Given the description of an element on the screen output the (x, y) to click on. 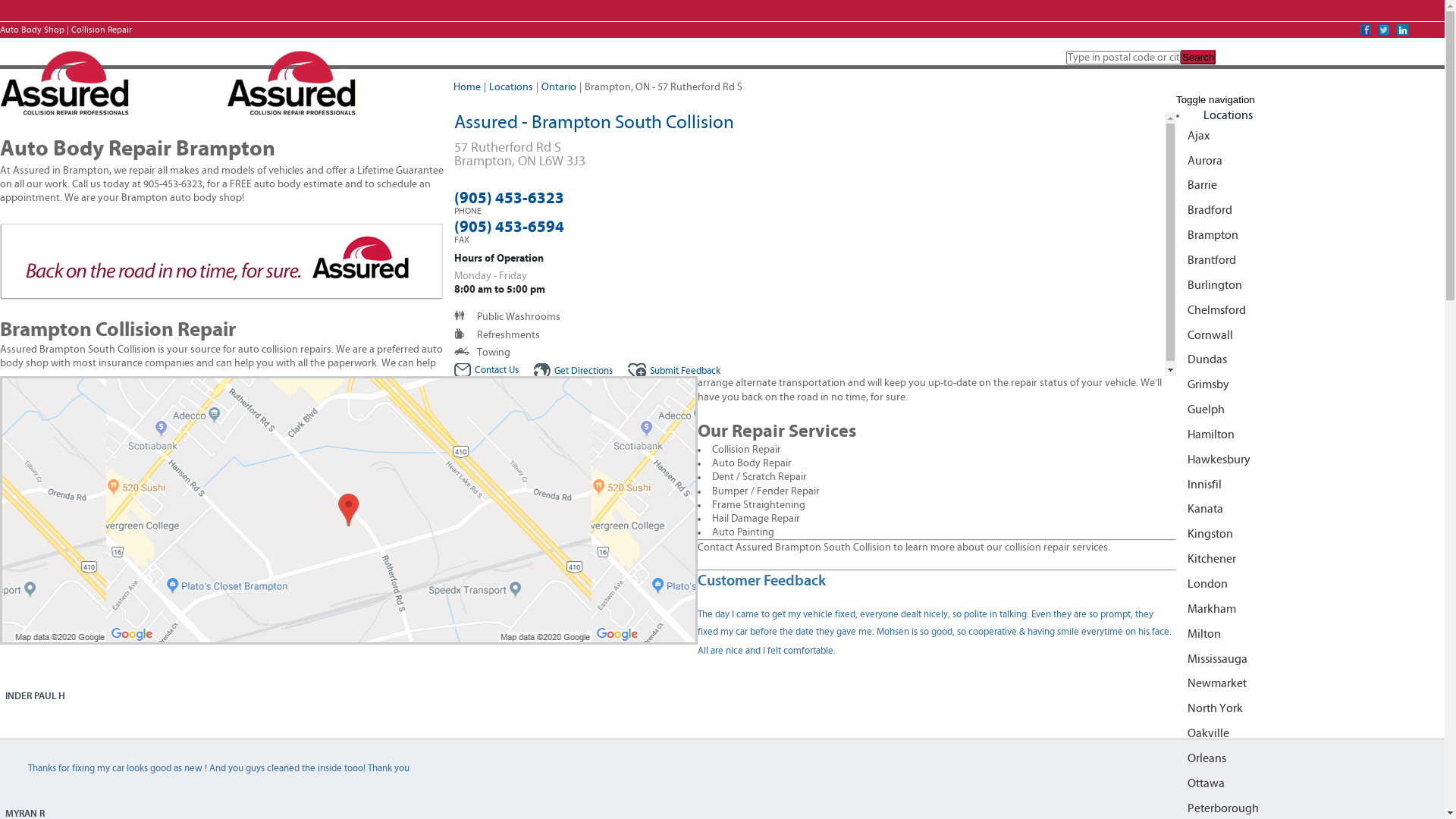
London Element type: text (1310, 583)
Locations Element type: text (511, 86)
Hawkesbury Element type: text (1310, 459)
Kanata Element type: text (1310, 508)
Brantford Element type: text (1310, 260)
Aurora Element type: text (1310, 160)
Toggle navigation Element type: text (1215, 99)
Guelph Element type: text (1310, 409)
(905) 453-6323 Element type: text (508, 197)
Mississauga Element type: text (1310, 658)
Newmarket Element type: text (1310, 683)
Home Element type: text (466, 86)
(905) 453-6594 Element type: text (508, 226)
Search Element type: text (1197, 57)
Ontario Element type: text (558, 86)
Burlington Element type: text (1310, 285)
Innisfil Element type: text (1310, 484)
Grimsby Element type: text (1310, 384)
Chelmsford Element type: text (1310, 310)
Get Directions Element type: text (572, 371)
Orleans Element type: text (1310, 758)
Ottawa Element type: text (1310, 783)
Dundas Element type: text (1310, 359)
Hamilton Element type: text (1310, 434)
Cornwall Element type: text (1310, 335)
Locations Element type: text (1228, 115)
Kitchener Element type: text (1310, 558)
Submit Feedback Element type: text (673, 371)
Ajax Element type: text (1310, 135)
Markham Element type: text (1310, 608)
Kingston Element type: text (1310, 533)
Contact Us Element type: text (485, 370)
Oakville Element type: text (1310, 733)
Bradford Element type: text (1310, 209)
North York Element type: text (1310, 708)
Milton Element type: text (1310, 633)
Brampton Element type: text (1310, 234)
Barrie Element type: text (1310, 184)
